Given the description of an element on the screen output the (x, y) to click on. 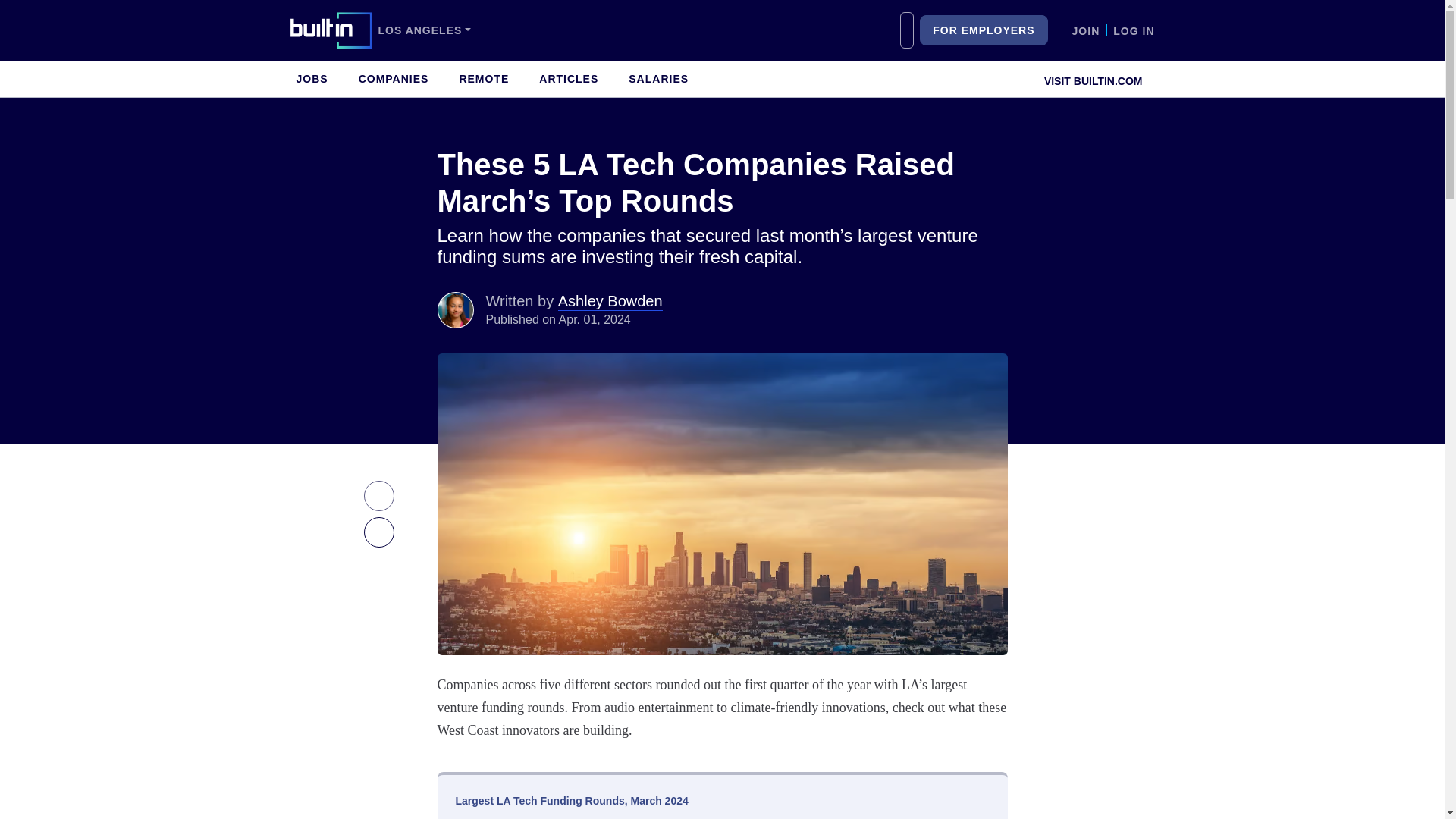
FOR EMPLOYERS (983, 30)
JOIN (1085, 30)
LOS ANGELES (423, 30)
Ashley Bowden (455, 309)
